Given the description of an element on the screen output the (x, y) to click on. 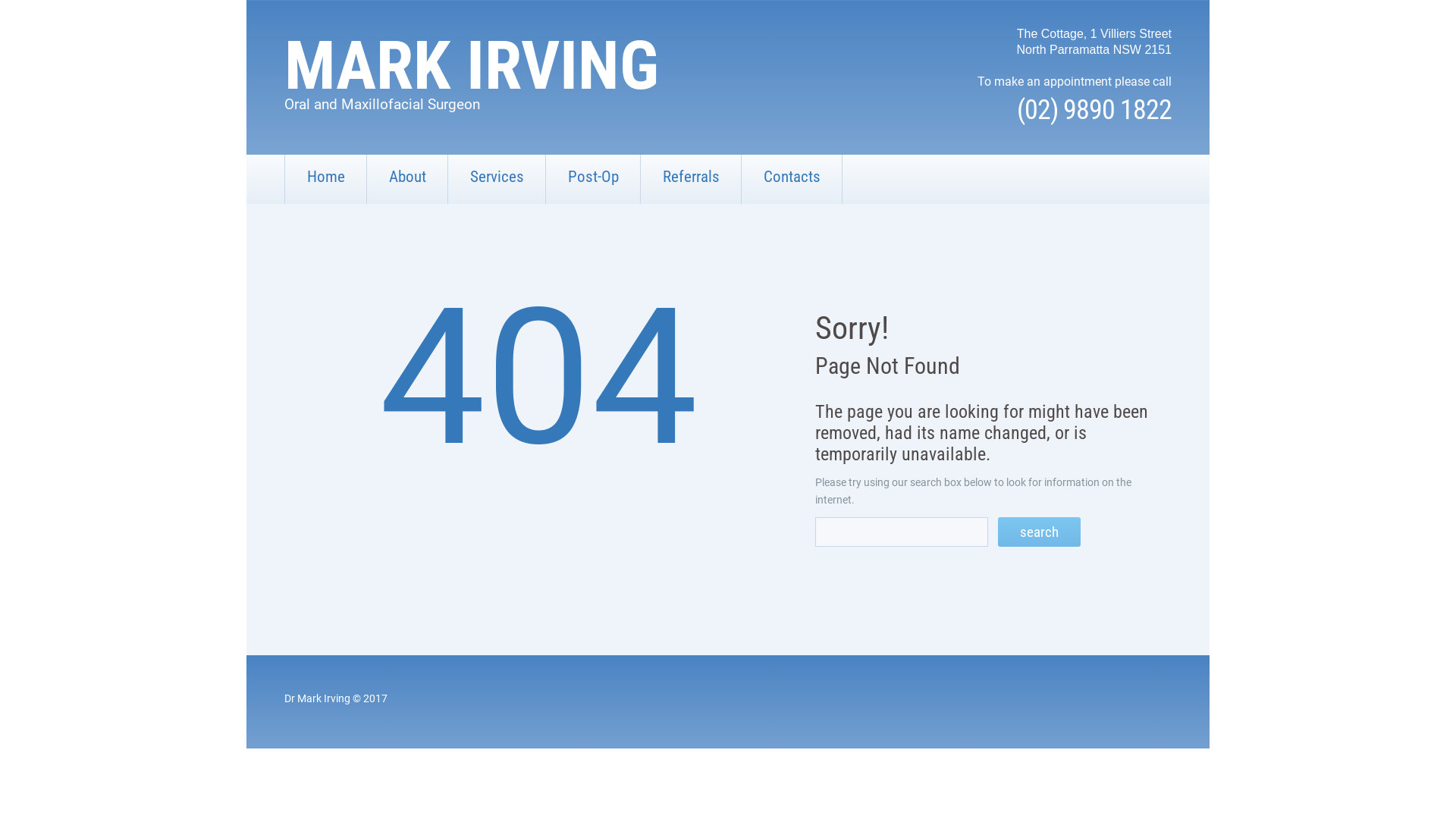
About Element type: text (407, 178)
Home Element type: text (325, 178)
Post-Op Element type: text (593, 178)
search Element type: text (1038, 531)
MARK IRVING Element type: text (471, 65)
Contacts Element type: text (791, 178)
Services Element type: text (496, 178)
Referrals Element type: text (690, 178)
